Given the description of an element on the screen output the (x, y) to click on. 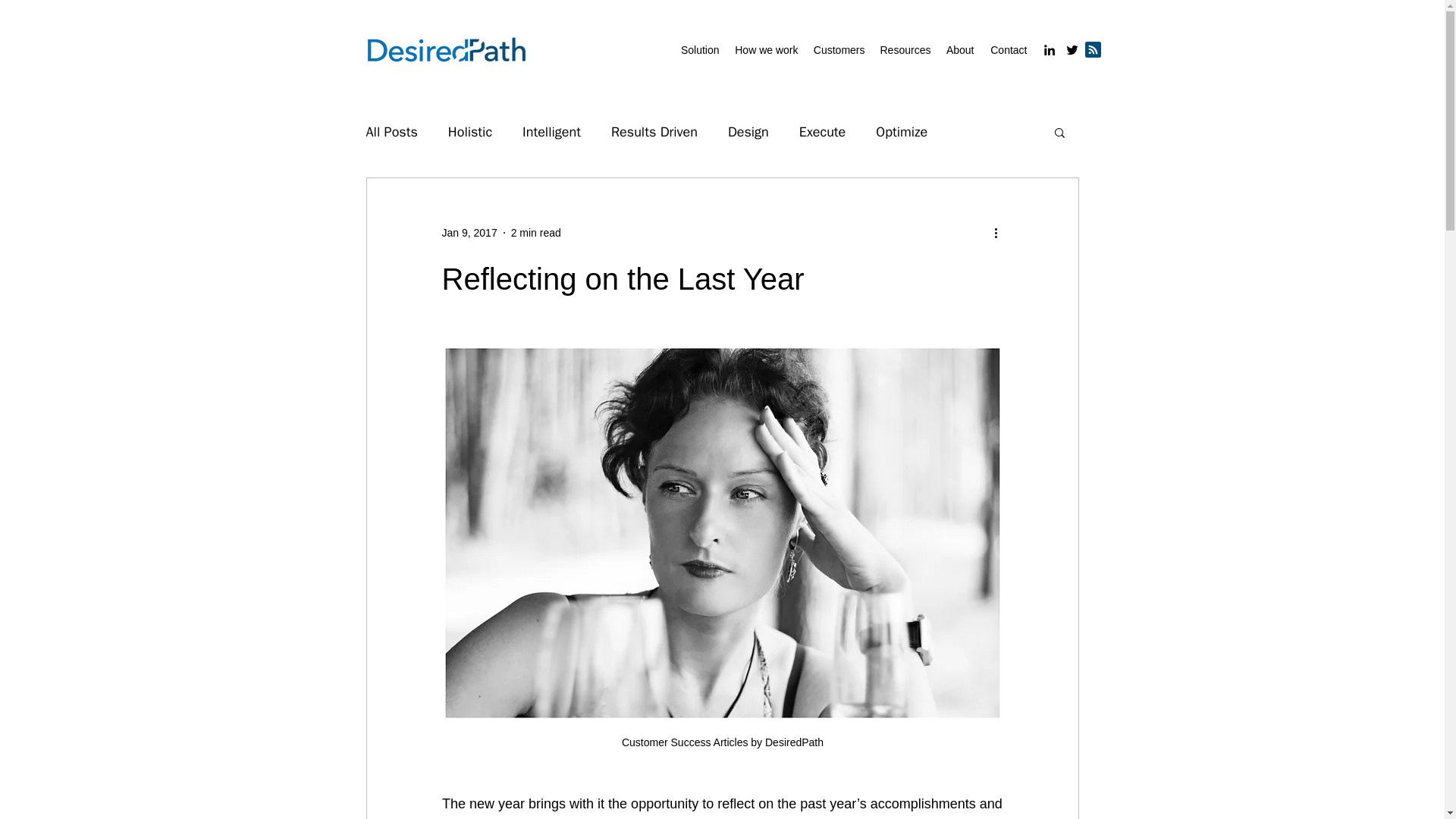
How we work (765, 49)
Design (748, 131)
Jan 9, 2017 (468, 232)
Solution (699, 49)
Holistic (470, 131)
About (958, 49)
Results Driven (654, 131)
Optimize (901, 131)
Execute (822, 131)
Customers (838, 49)
Intelligent (551, 131)
2 min read (535, 232)
All Posts (390, 131)
Contact (1007, 49)
